Given the description of an element on the screen output the (x, y) to click on. 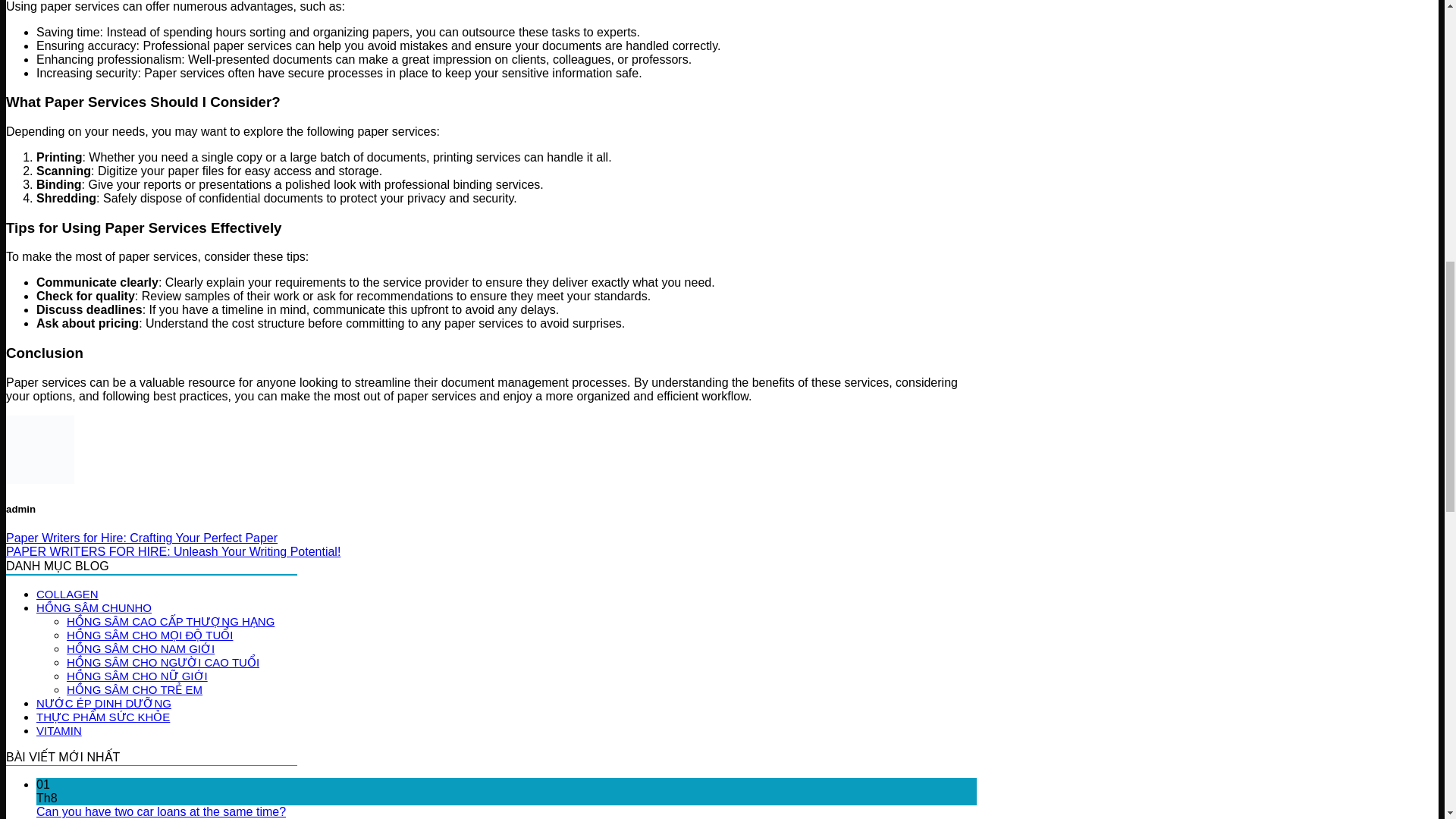
Can you have two car loans at the same time? (160, 811)
